Given the description of an element on the screen output the (x, y) to click on. 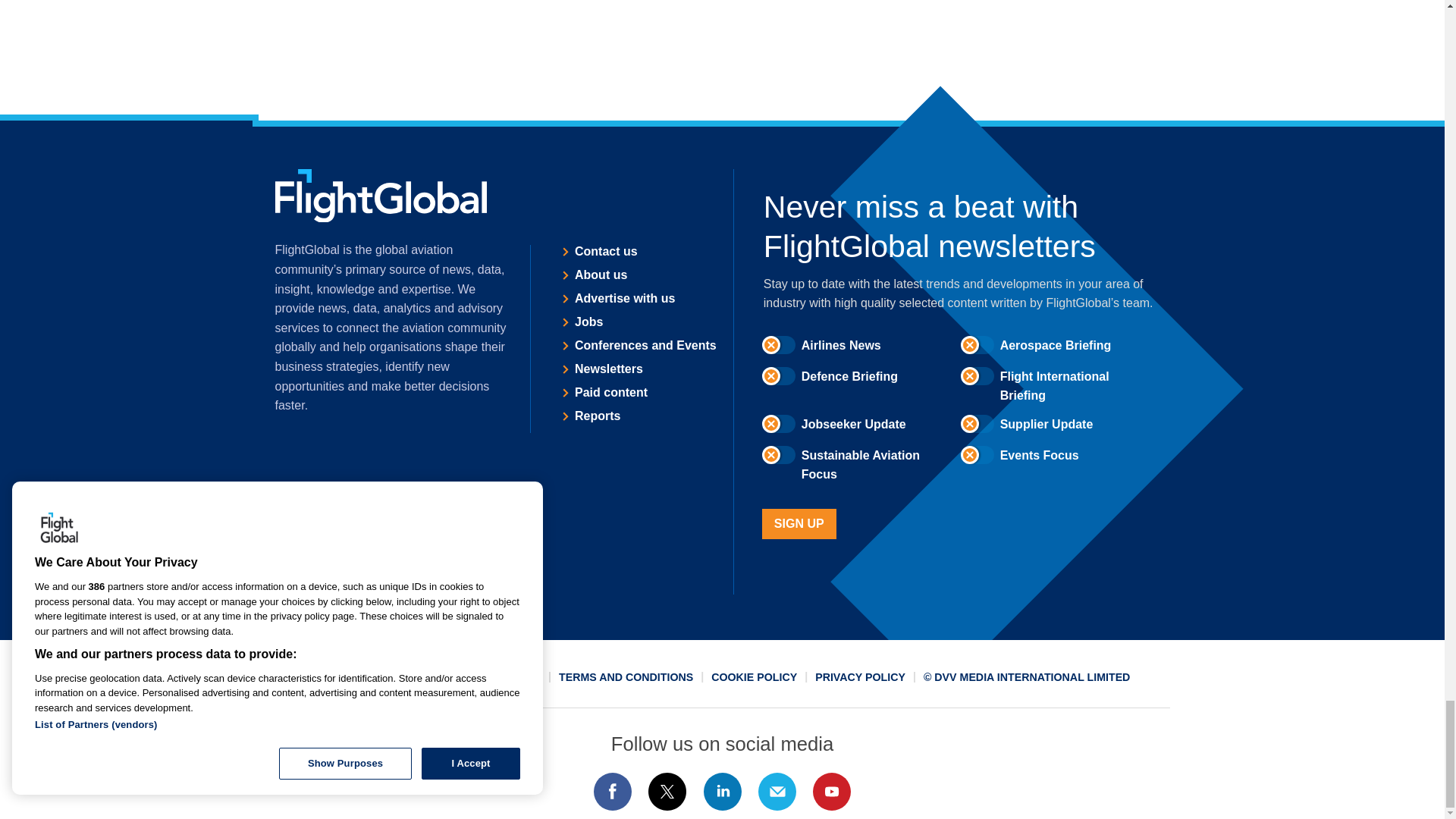
Connect with us on Twitter (667, 791)
Connect with us on Facebook (611, 791)
Connect with us on Linked In (721, 791)
Email us (776, 791)
Connect with us on Youtube (831, 791)
